Given the description of an element on the screen output the (x, y) to click on. 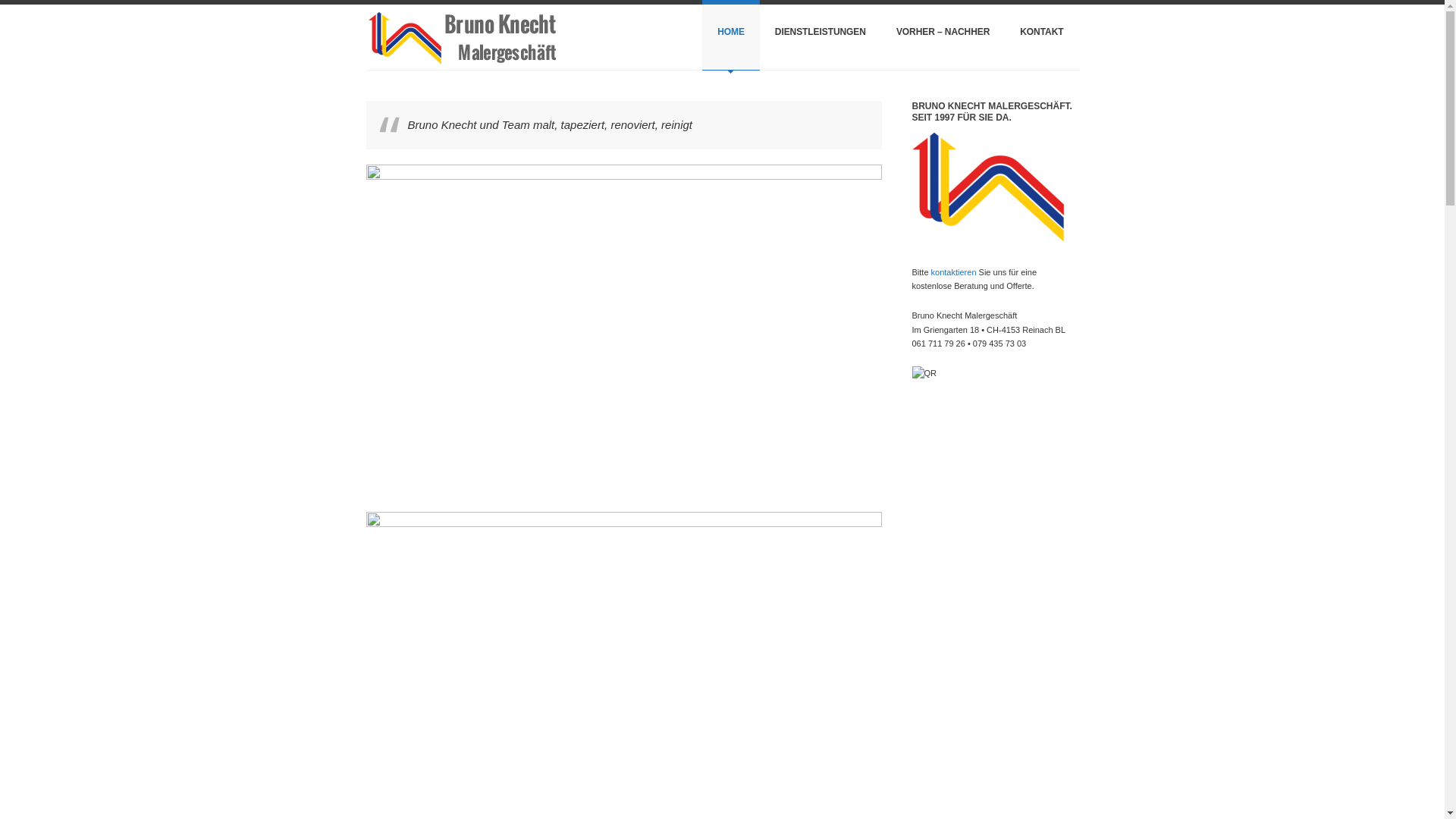
DIENSTLEISTUNGEN Element type: text (820, 35)
Bruno Knecht Element type: hover (460, 36)
KONTAKT Element type: text (1041, 35)
kontaktieren Element type: text (953, 271)
HOME Element type: text (730, 35)
